Given the description of an element on the screen output the (x, y) to click on. 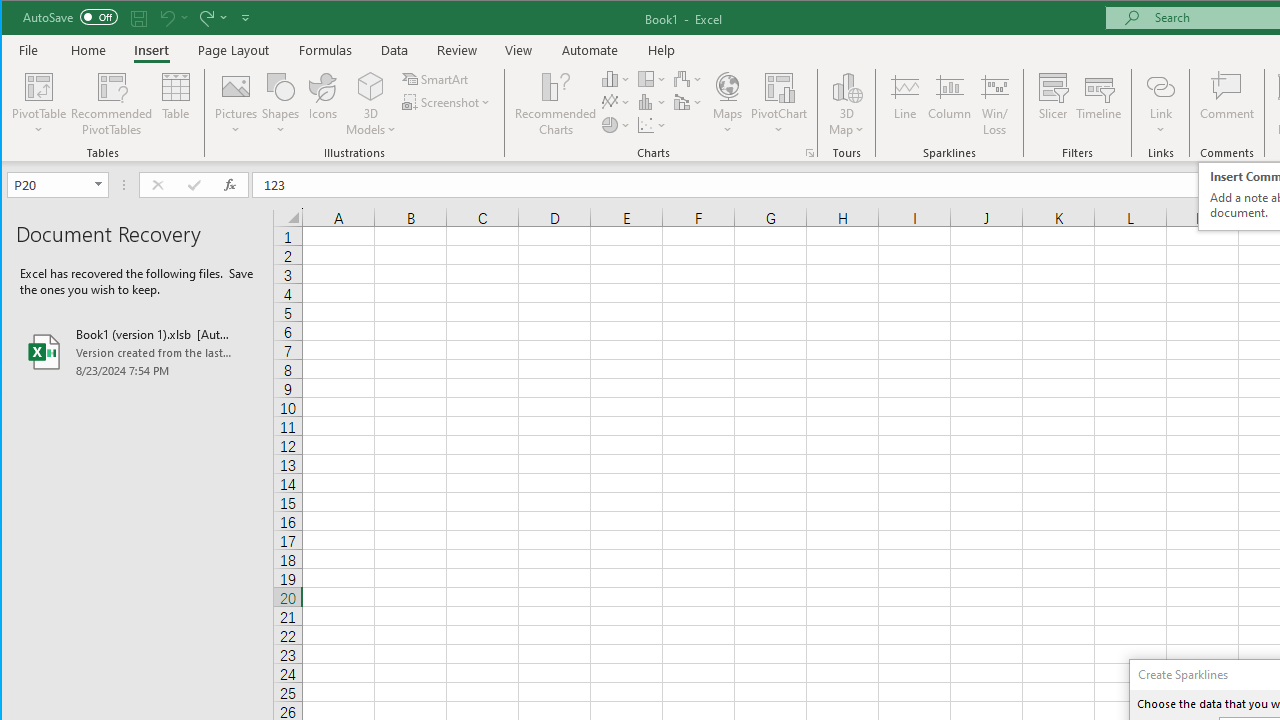
Insert Hierarchy Chart (652, 78)
Insert Statistic Chart (652, 101)
Table (175, 104)
PivotChart (779, 86)
Pictures (235, 104)
Screenshot (447, 101)
Insert Combo Chart (688, 101)
Comment (1227, 104)
Recommended PivotTables (111, 104)
